Given the description of an element on the screen output the (x, y) to click on. 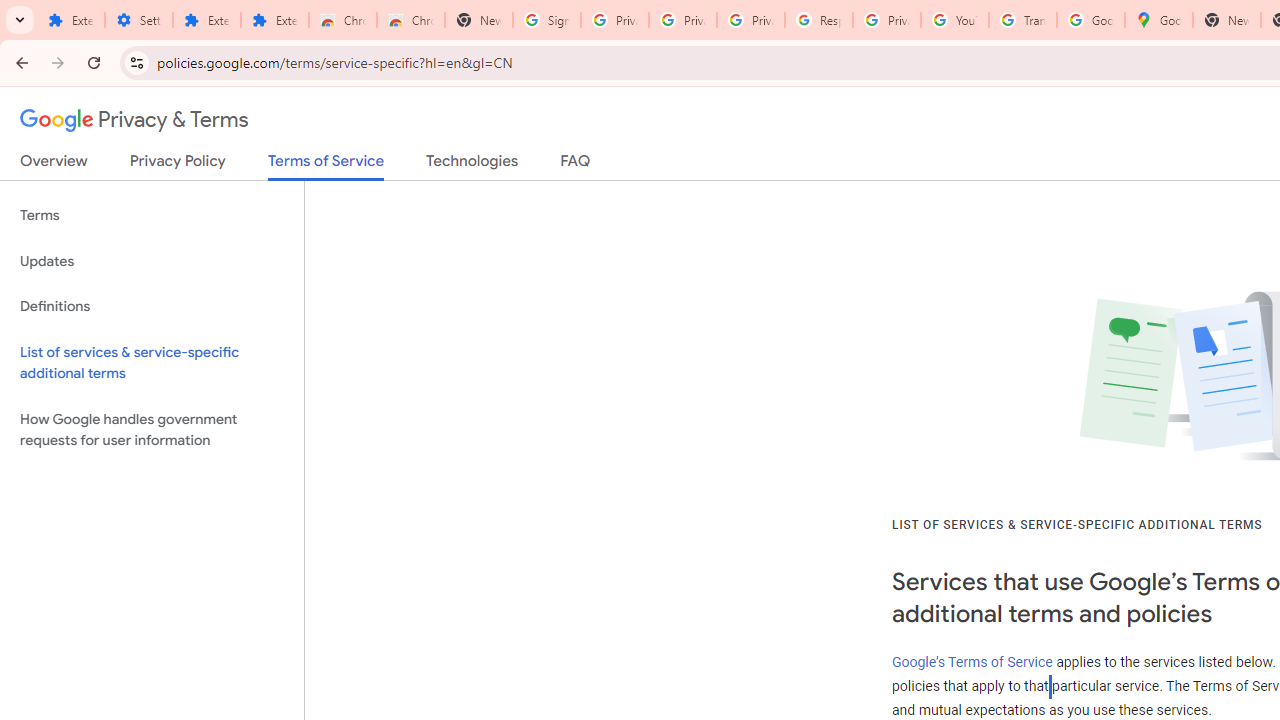
Chrome Web Store - Themes (411, 20)
New Tab (1226, 20)
New Tab (479, 20)
Extensions (70, 20)
